Given the description of an element on the screen output the (x, y) to click on. 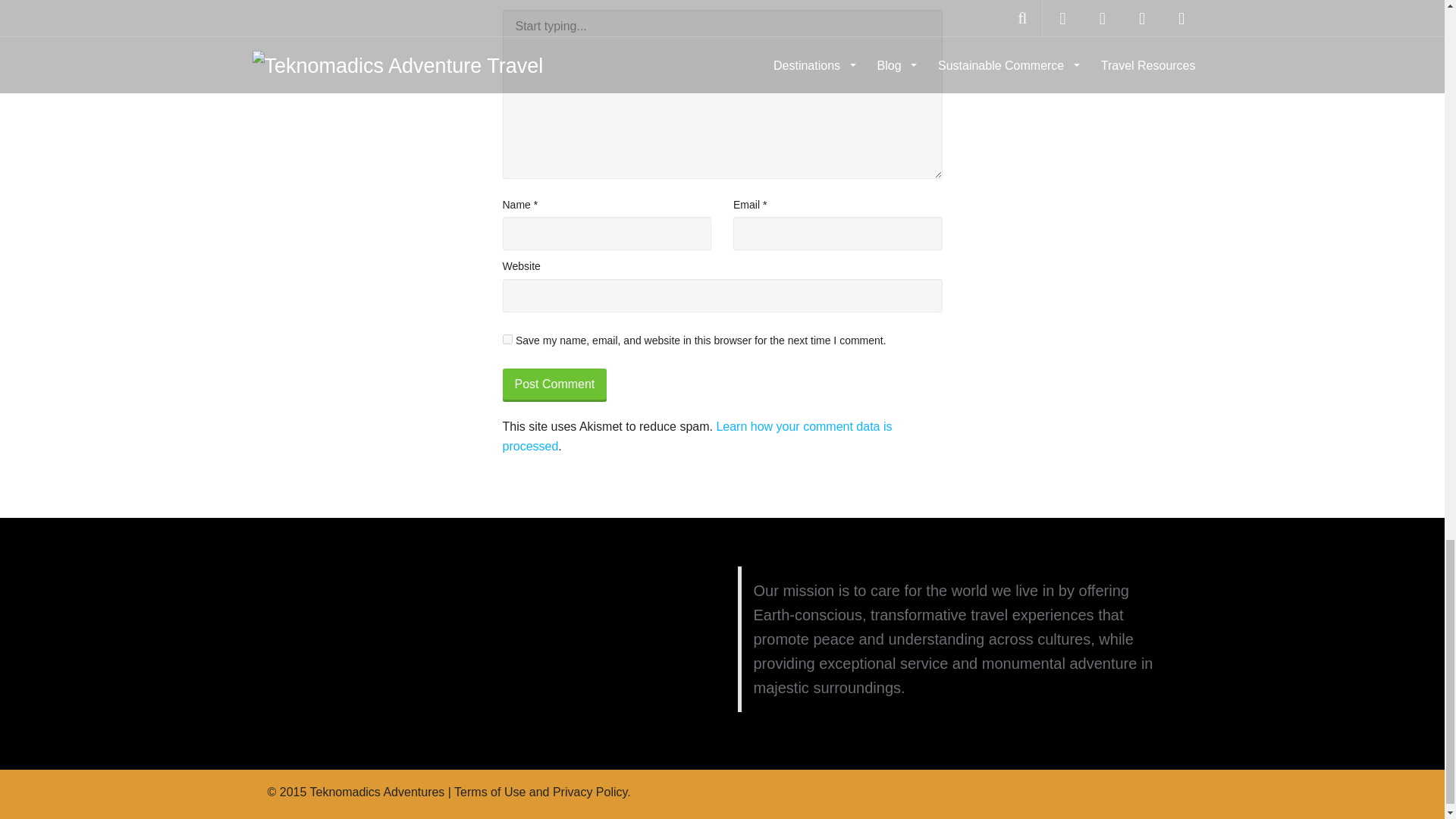
Post Comment (554, 385)
Post Comment (554, 385)
yes (507, 338)
Learn how your comment data is processed (696, 436)
